Given the description of an element on the screen output the (x, y) to click on. 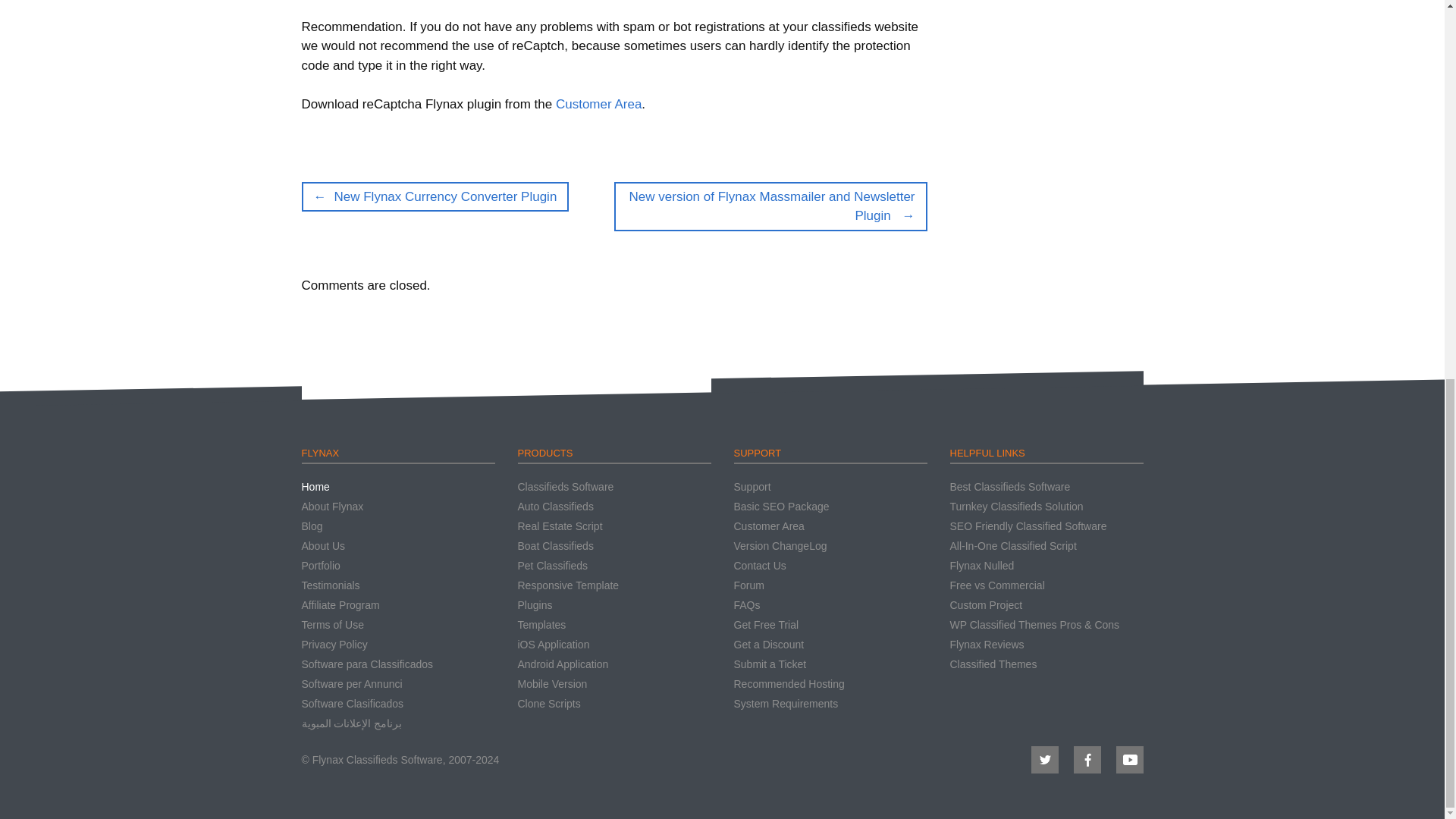
About Flynax (332, 506)
Home (315, 486)
Blog (312, 526)
Testimonials (330, 585)
New version of Flynax Massmailer and Newsletter Plugin (770, 205)
Customer Area (599, 104)
Portfolio (320, 565)
New Flynax Currency Converter Plugin (435, 196)
About Us (323, 545)
